Given the description of an element on the screen output the (x, y) to click on. 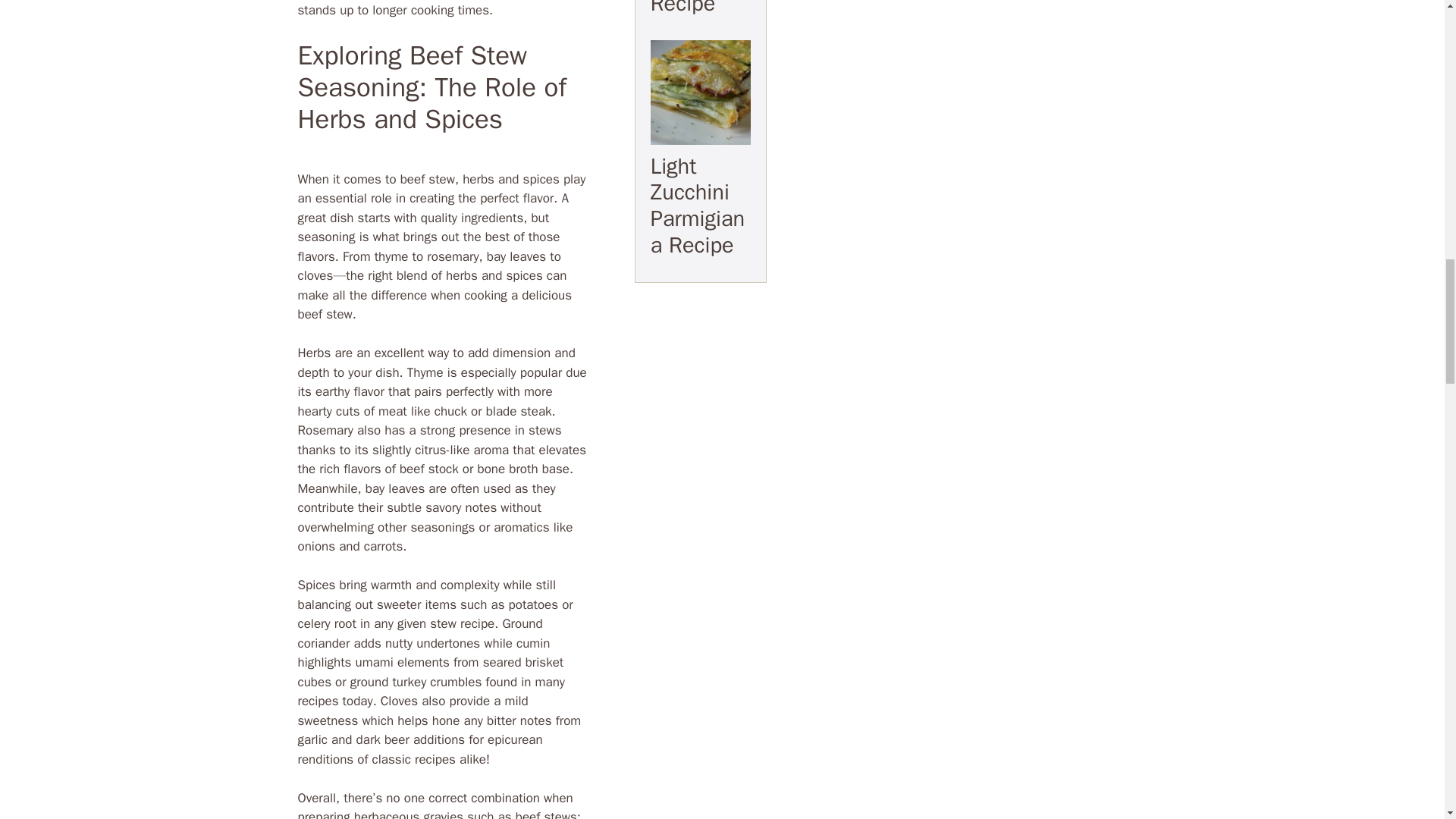
Light Zucchini Parmigiana Recipe (697, 205)
Bits and Bites Recipe (690, 8)
